Given the description of an element on the screen output the (x, y) to click on. 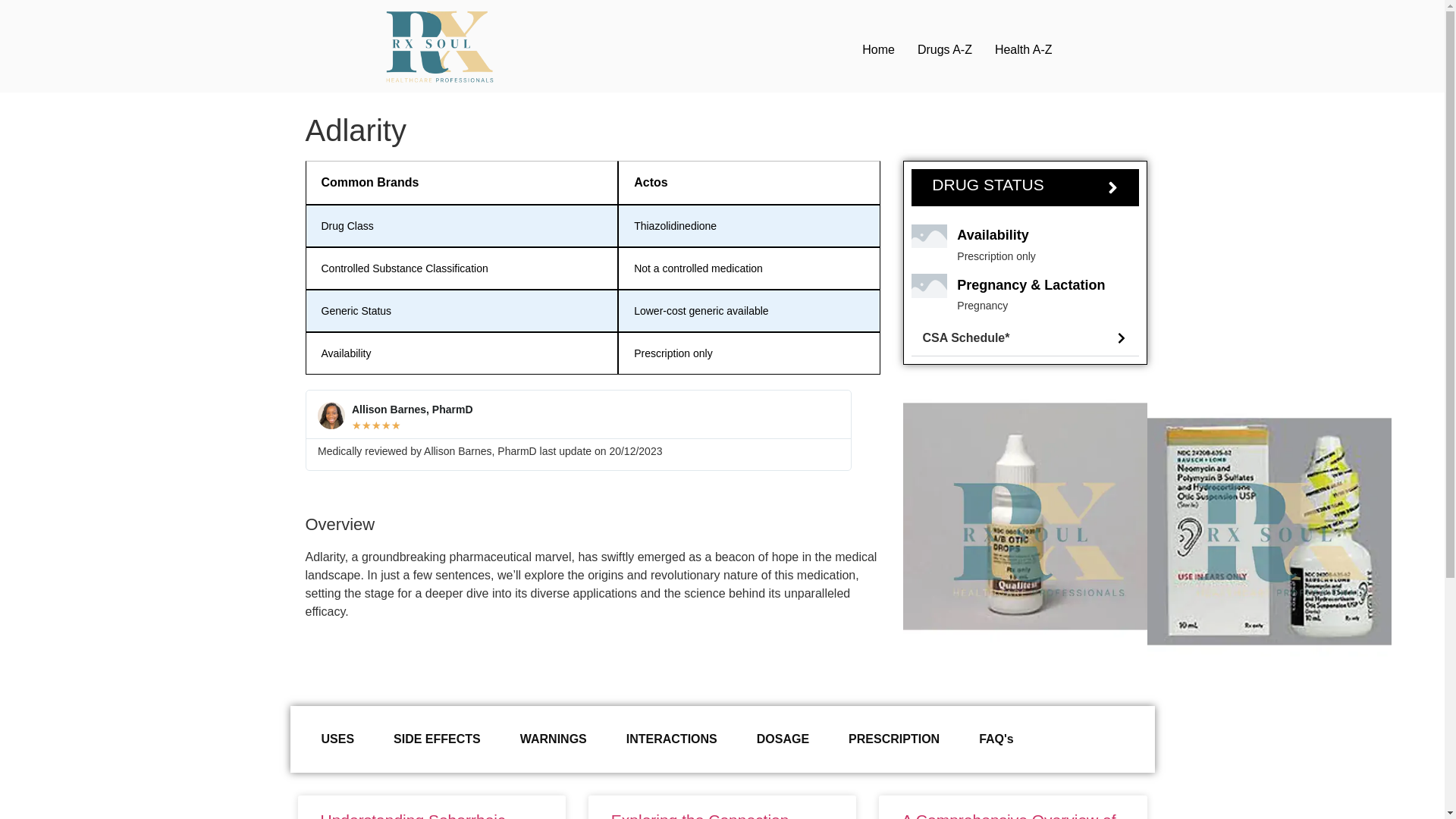
Exploring the Connection Between Gut-Brain Axis (700, 815)
Home (877, 50)
A Comprehensive Overview of Food Intolerance (1008, 815)
Health A-Z (1024, 50)
Drugs A-Z (944, 50)
